Given the description of an element on the screen output the (x, y) to click on. 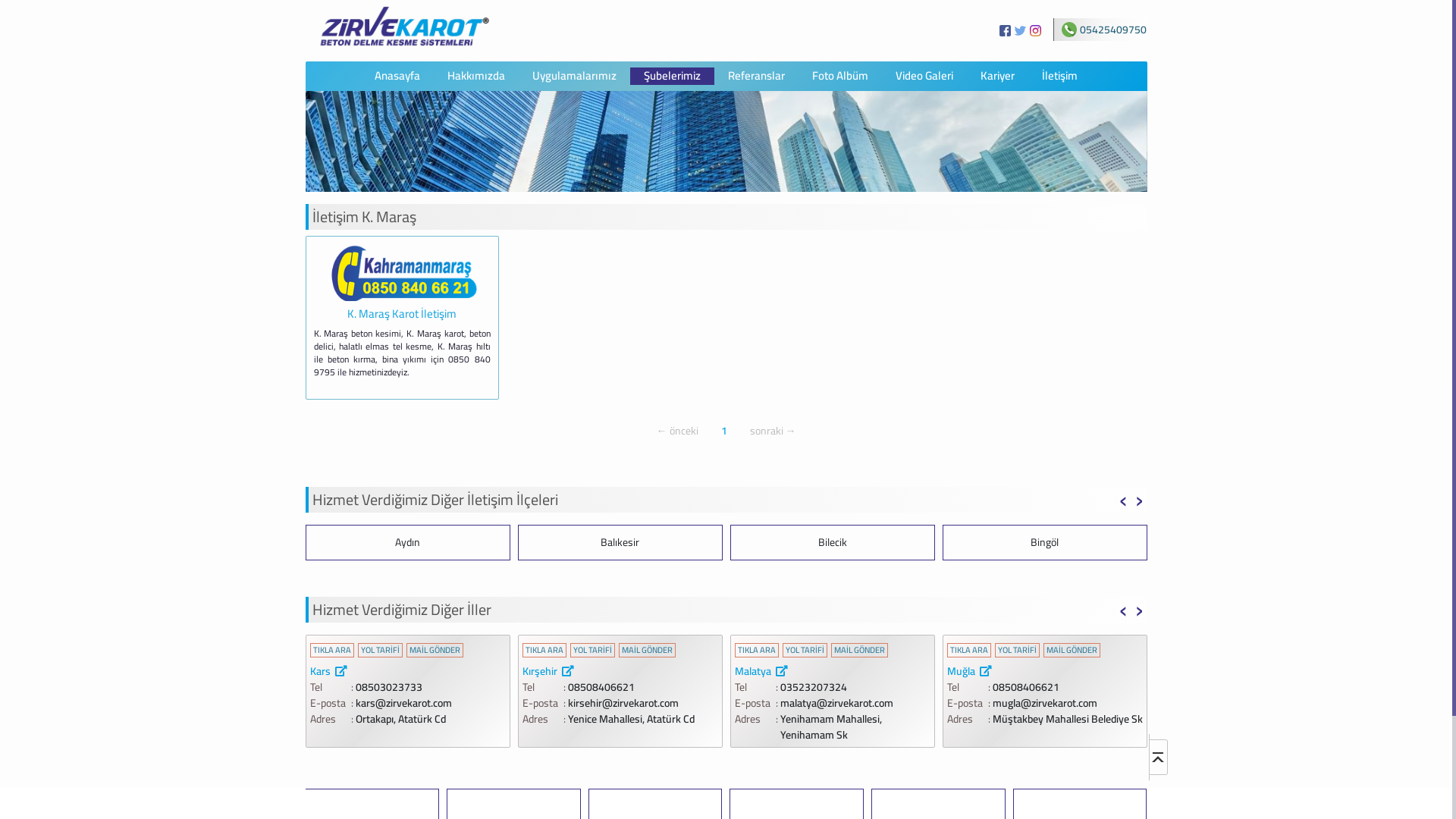
Bursa  Element type: text (407, 671)
1 Element type: text (724, 430)
05425409750 Element type: text (1103, 29)
Amasya Element type: text (832, 542)
Ankara Element type: text (1044, 542)
Referanslar Element type: text (756, 75)
Kariyer Element type: text (997, 75)
Giresun  Element type: text (832, 671)
Afyon Element type: text (407, 542)
Isparta  Element type: text (1044, 671)
Video Galeri Element type: text (923, 75)
TIKLA ARA Element type: text (331, 650)
TIKLA ARA Element type: text (765, 650)
TIKLA ARA Element type: text (968, 650)
Anasayfa Element type: text (396, 75)
TIKLA ARA Element type: text (511, 650)
Erzincan  Element type: text (636, 671)
Denizli  Element type: text (497, 671)
TIKLA ARA Element type: text (611, 650)
